Given the description of an element on the screen output the (x, y) to click on. 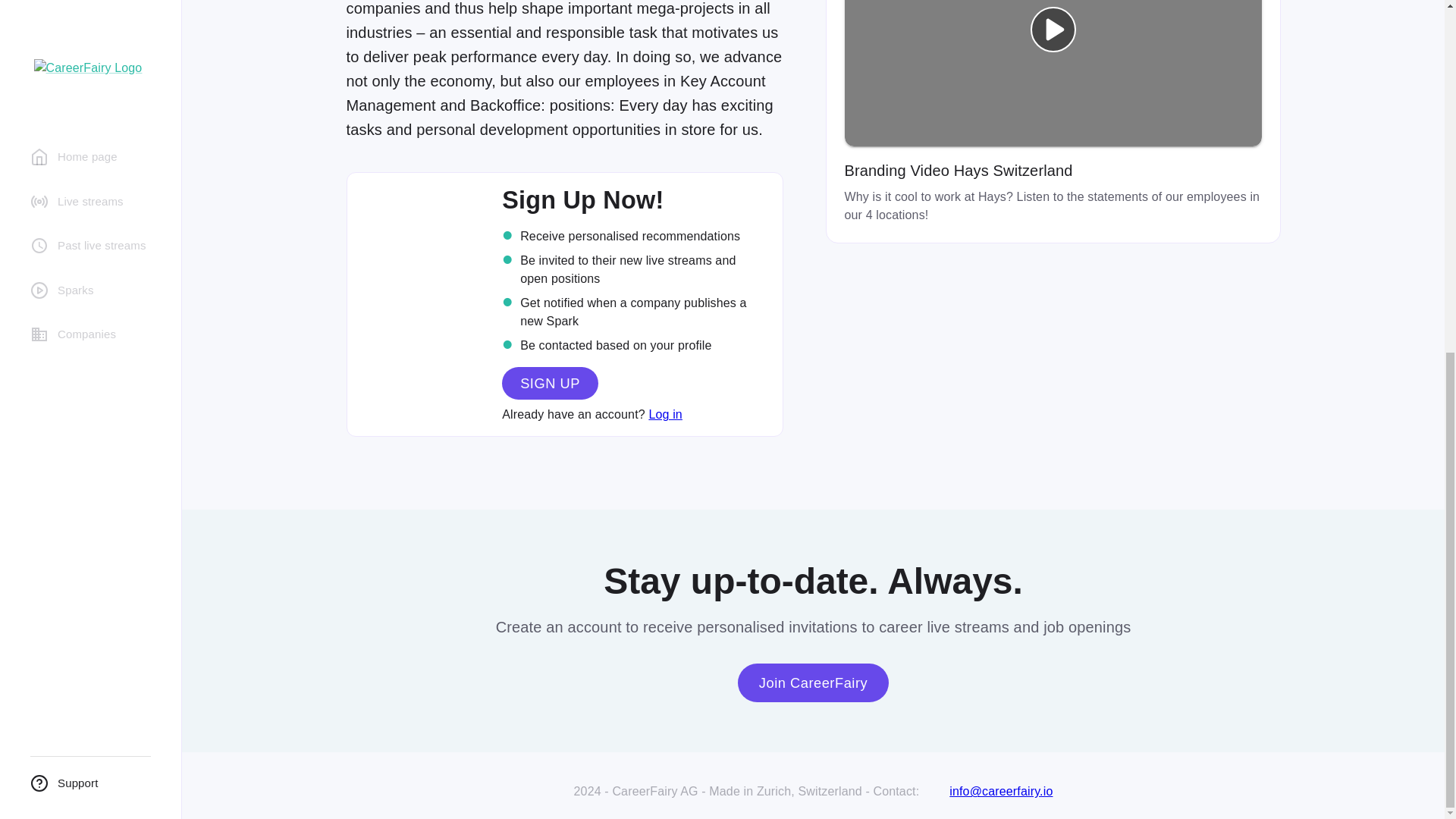
Join CareerFairy (813, 681)
SIGN UP (550, 382)
Join CareerFairy (813, 682)
Support (90, 168)
SIGN UP (550, 382)
Log in (664, 413)
